Given the description of an element on the screen output the (x, y) to click on. 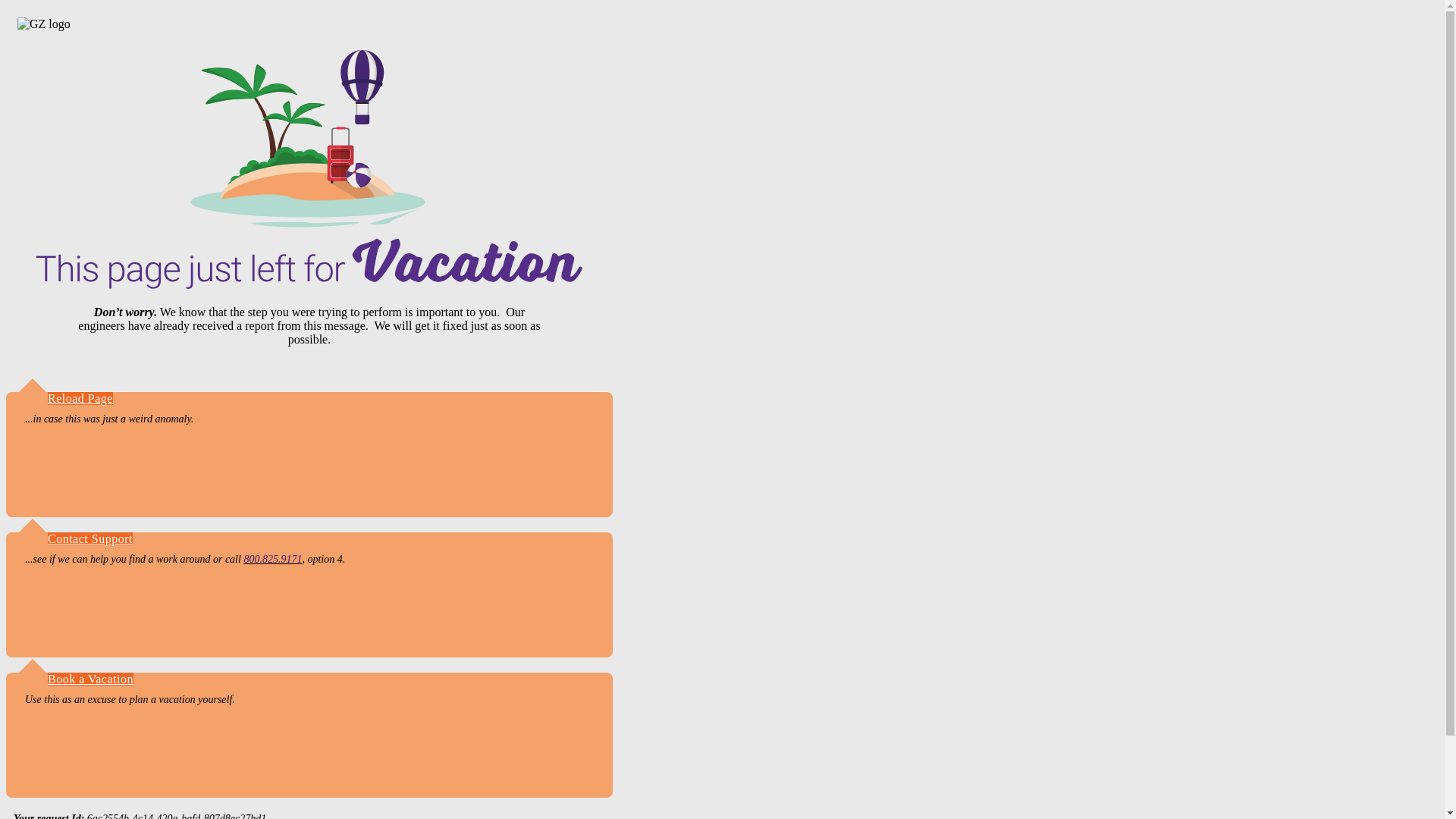
Reload Page (80, 398)
error-graphic (309, 169)
Contact Support (90, 538)
Book a Vacation (90, 678)
